Given the description of an element on the screen output the (x, y) to click on. 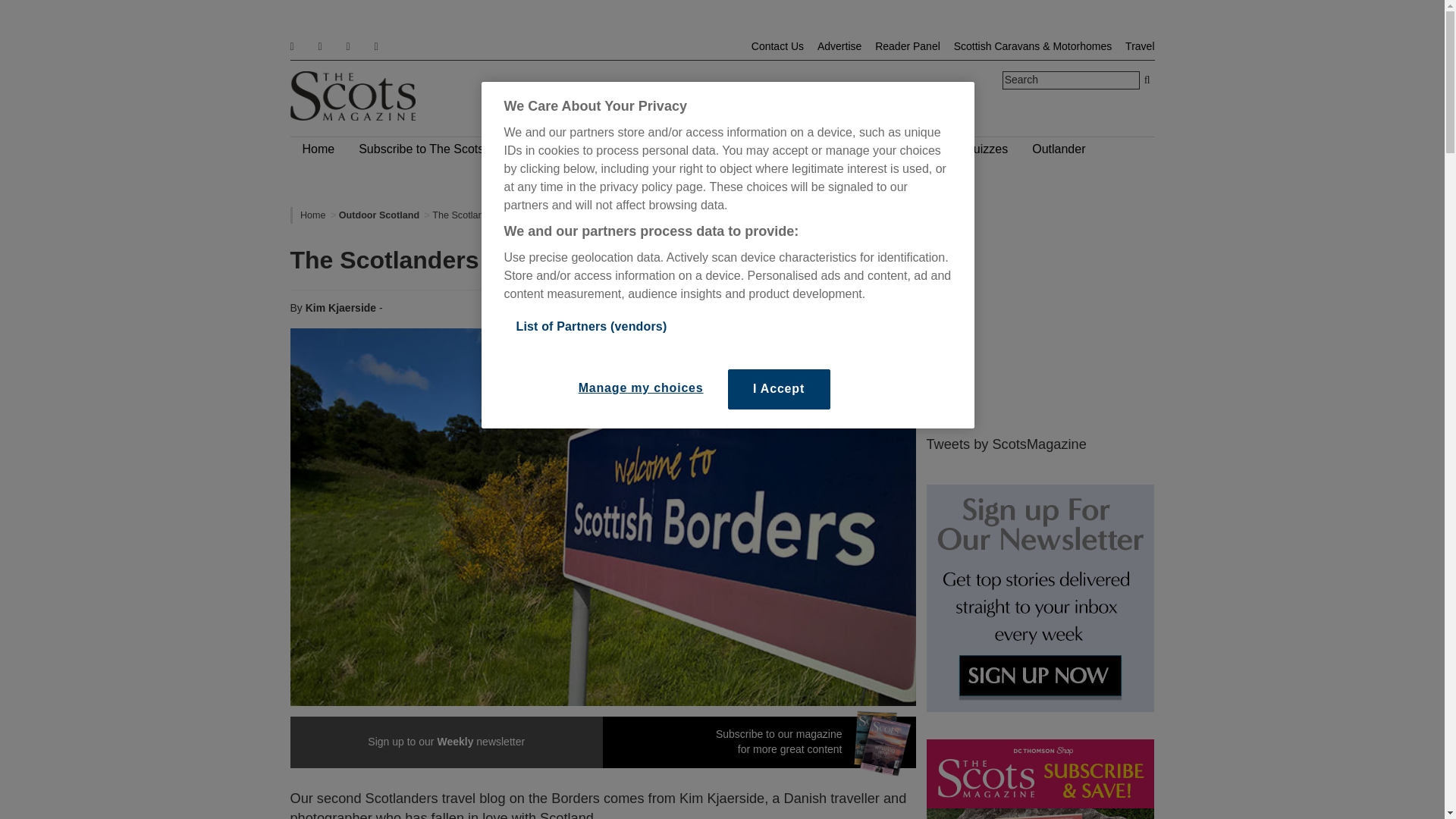
The Scots Magazine (351, 95)
Discover Scotland (846, 149)
Subscribe to The Scots Magazine (449, 149)
Subscribe to The Scots Magazine (449, 149)
Famous Scots (603, 149)
Outdoor Scotland (379, 214)
Home (317, 149)
Recipes (751, 149)
Outlander (1058, 149)
Home (312, 214)
Advertise (838, 46)
Reader Panel (907, 46)
Contact Us (777, 46)
Wildlife (684, 149)
Travel (1139, 46)
